Given the description of an element on the screen output the (x, y) to click on. 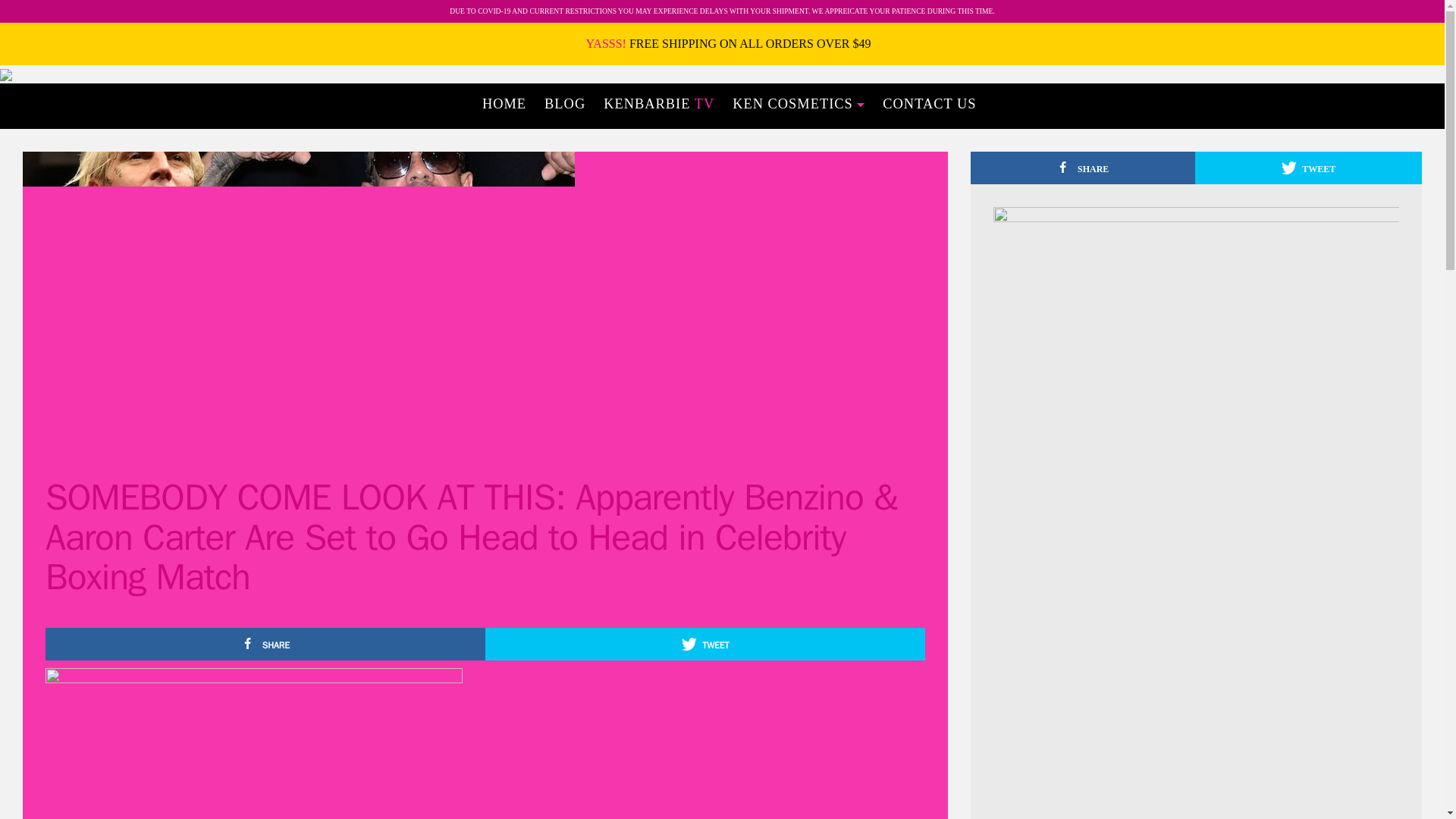
HOME (504, 103)
TWEET (704, 644)
BLOG (564, 103)
KEN COSMETICS (798, 103)
CONTACT US (929, 103)
KENBARBIE TV (658, 103)
SHARE (264, 644)
